Given the description of an element on the screen output the (x, y) to click on. 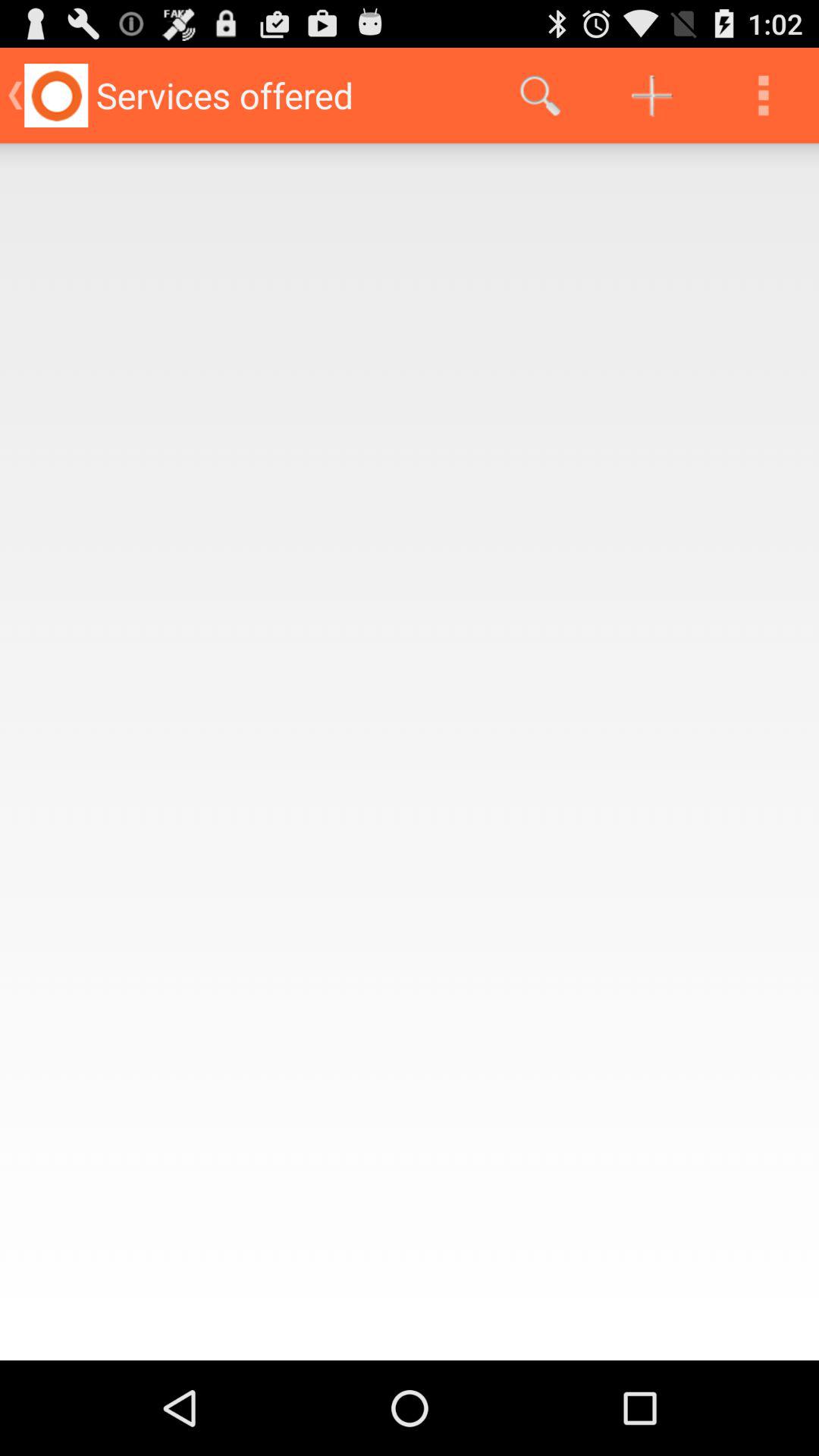
turn on the icon at the top (540, 95)
